Given the description of an element on the screen output the (x, y) to click on. 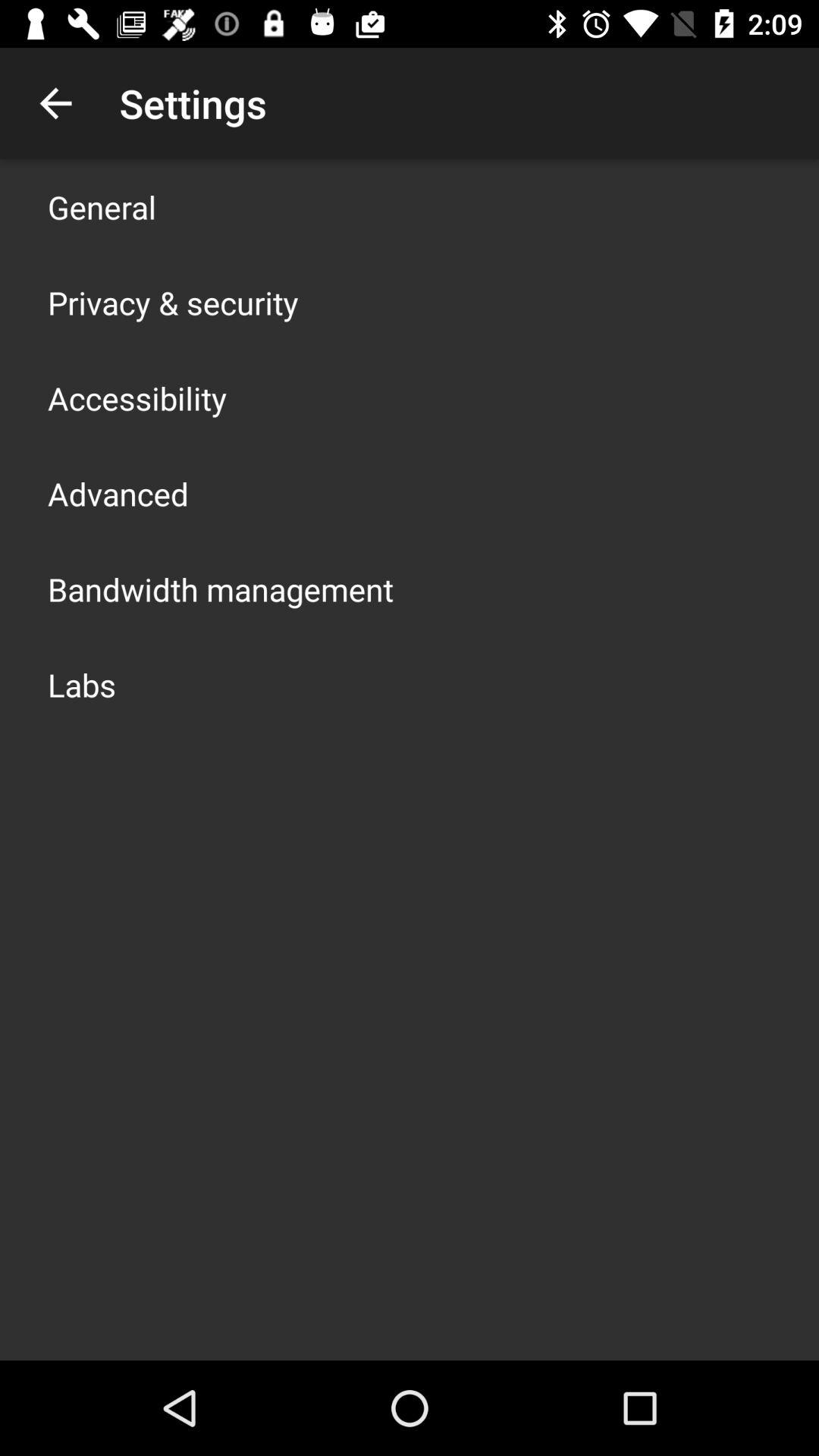
tap the app above accessibility icon (172, 302)
